Given the description of an element on the screen output the (x, y) to click on. 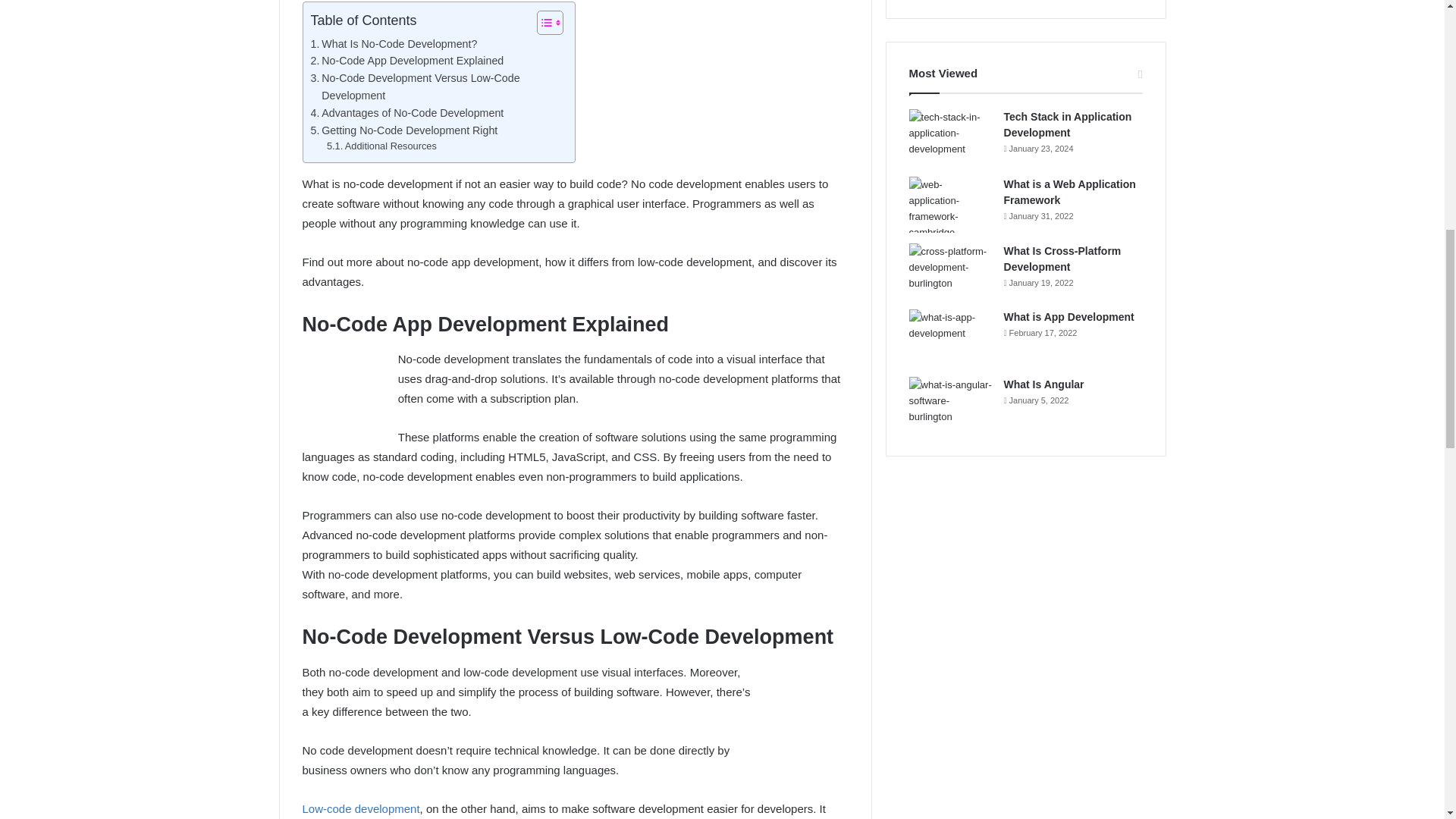
Advantages of No-Code Development (407, 113)
No-Code Development Versus Low-Code Development (435, 86)
What Is No-Code Development? (394, 44)
No-Code App Development Explained (407, 60)
Additional Resources (381, 146)
Getting No-Code Development Right (404, 130)
